Given the description of an element on the screen output the (x, y) to click on. 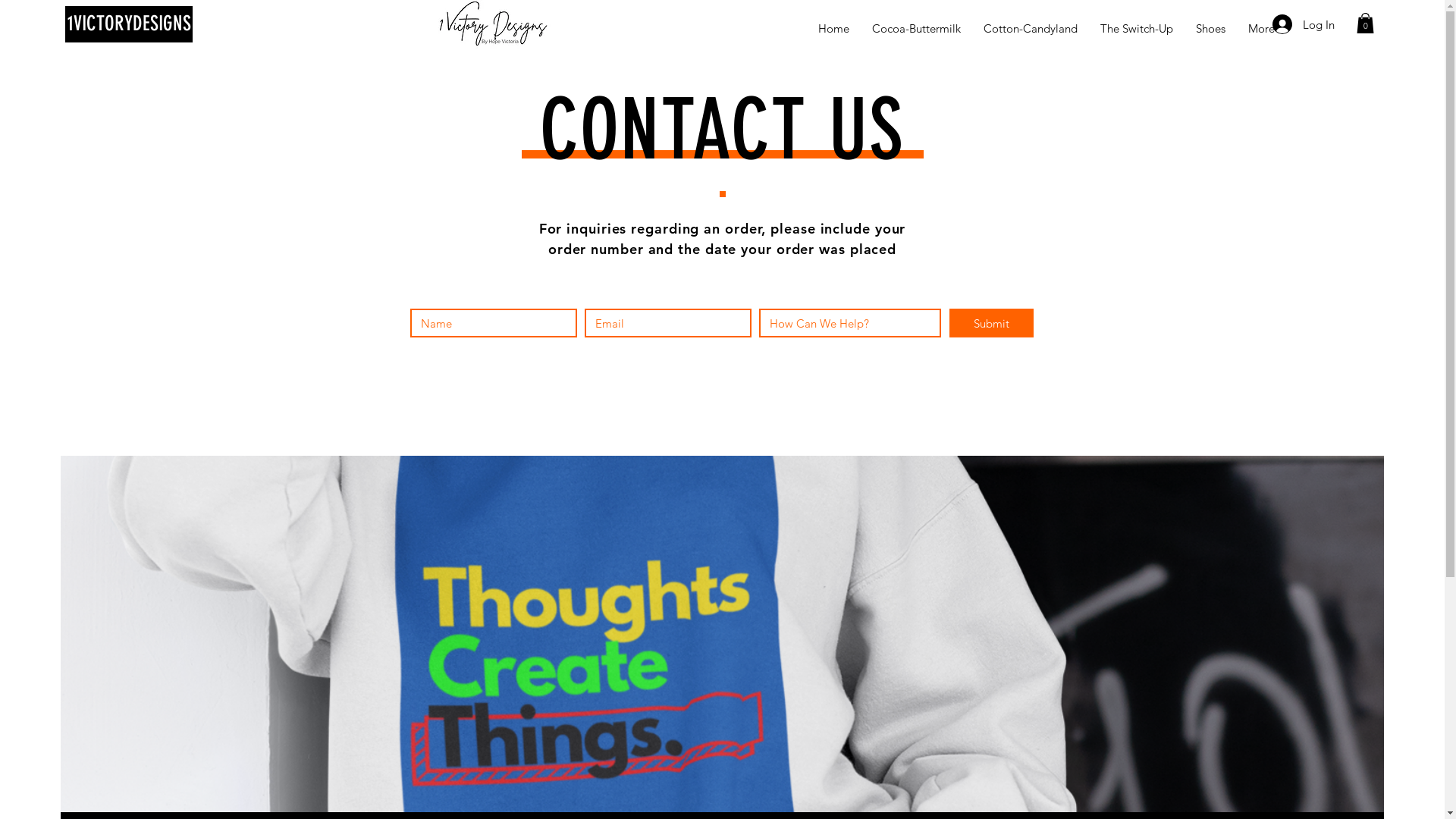
Shoes Element type: text (1210, 27)
0 Element type: text (1365, 22)
Submit Element type: text (991, 322)
Cotton-Candyland Element type: text (1030, 27)
The Switch-Up Element type: text (1136, 27)
1_edited.jpg Element type: hover (493, 24)
Cocoa-Buttermilk Element type: text (916, 27)
1VICTORYDESIGNS Element type: text (128, 24)
Home Element type: text (833, 27)
Log In Element type: text (1303, 23)
